Given the description of an element on the screen output the (x, y) to click on. 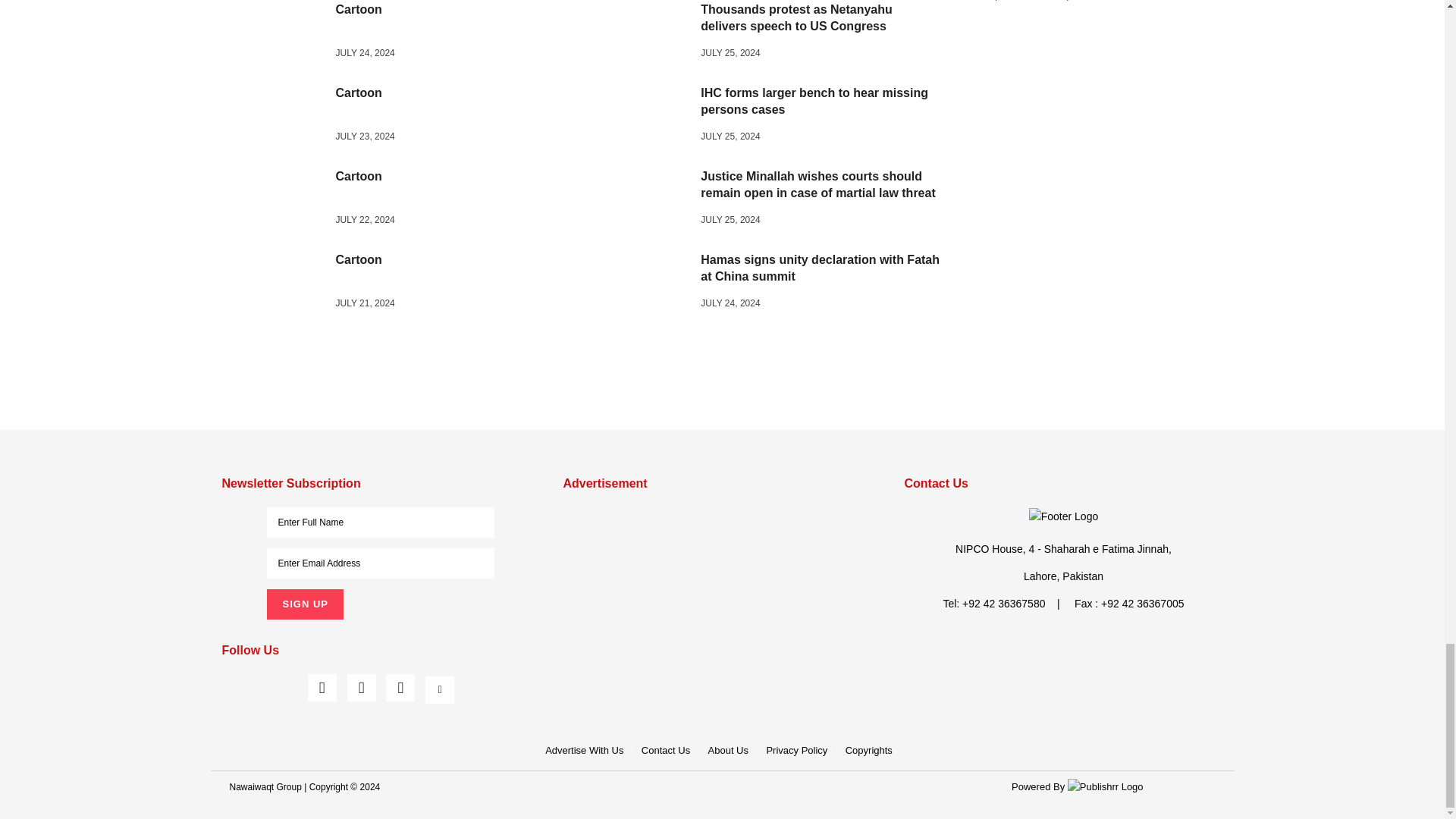
Cartoon (278, 117)
IHC forms larger bench to hear missing persons cases (643, 117)
Cartoon (278, 200)
Cartoon (278, 33)
Hamas signs unity declaration with Fatah at China summit (643, 283)
Sign up (304, 603)
Cartoon (278, 283)
